Given the description of an element on the screen output the (x, y) to click on. 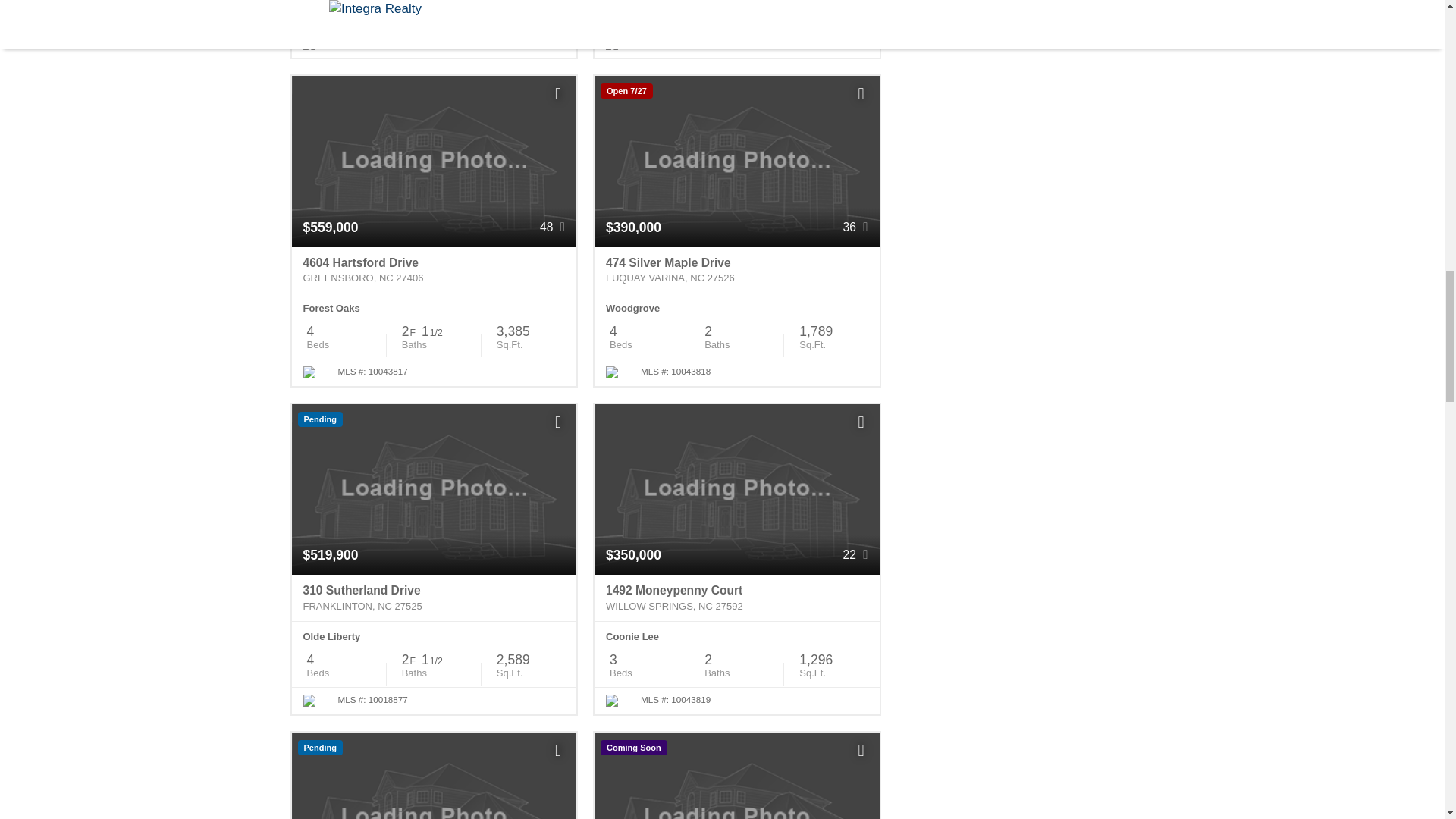
4604 Hartsford Drive Greensboro,  NC 27406 (433, 270)
474 Silver Maple Drive Fuquay Varina,  NC 27526 (736, 270)
